Given the description of an element on the screen output the (x, y) to click on. 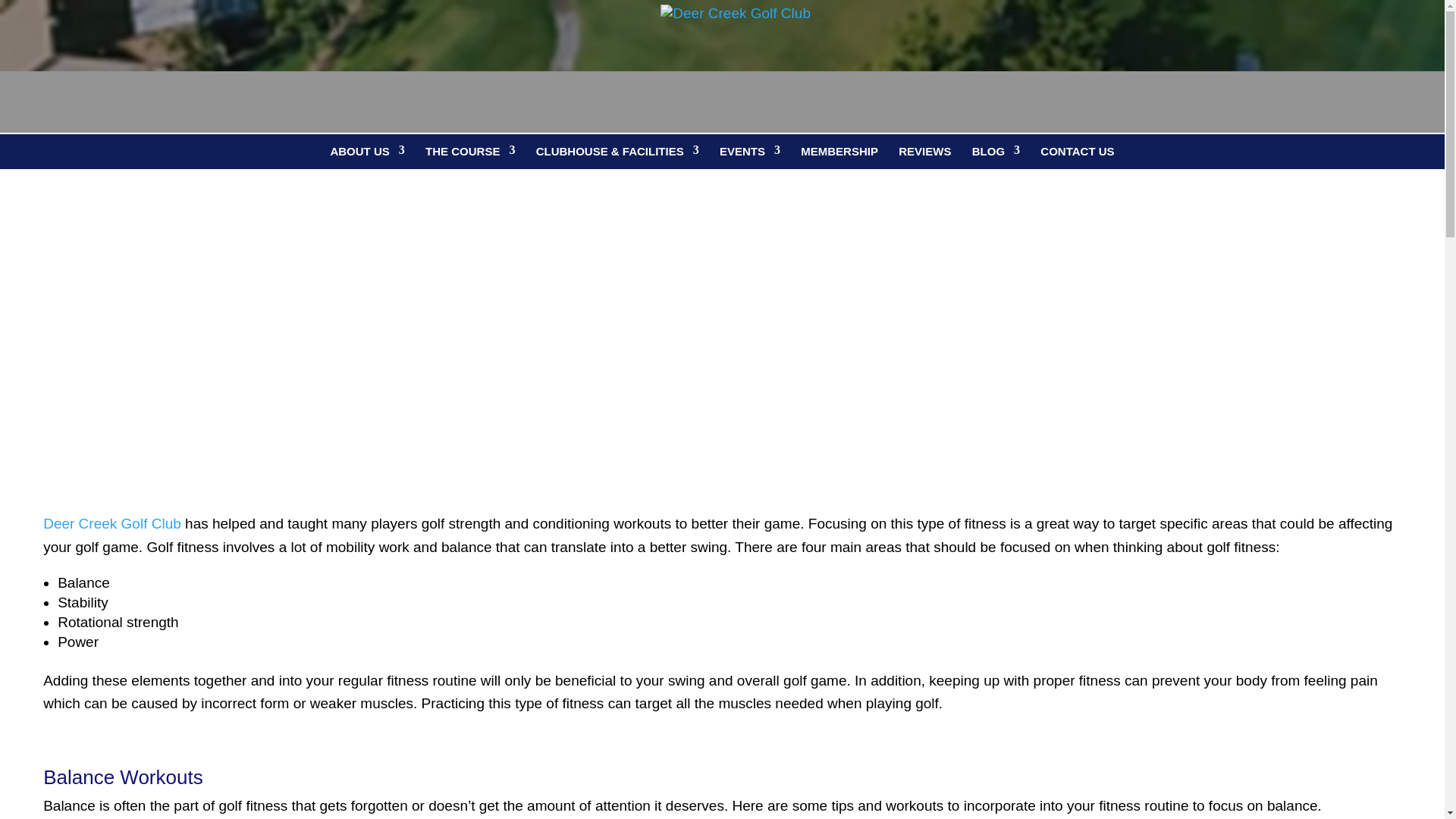
MEMBERSHIP (838, 151)
EVENTS (749, 151)
ABOUT US (367, 151)
THE COURSE (470, 151)
